Given the description of an element on the screen output the (x, y) to click on. 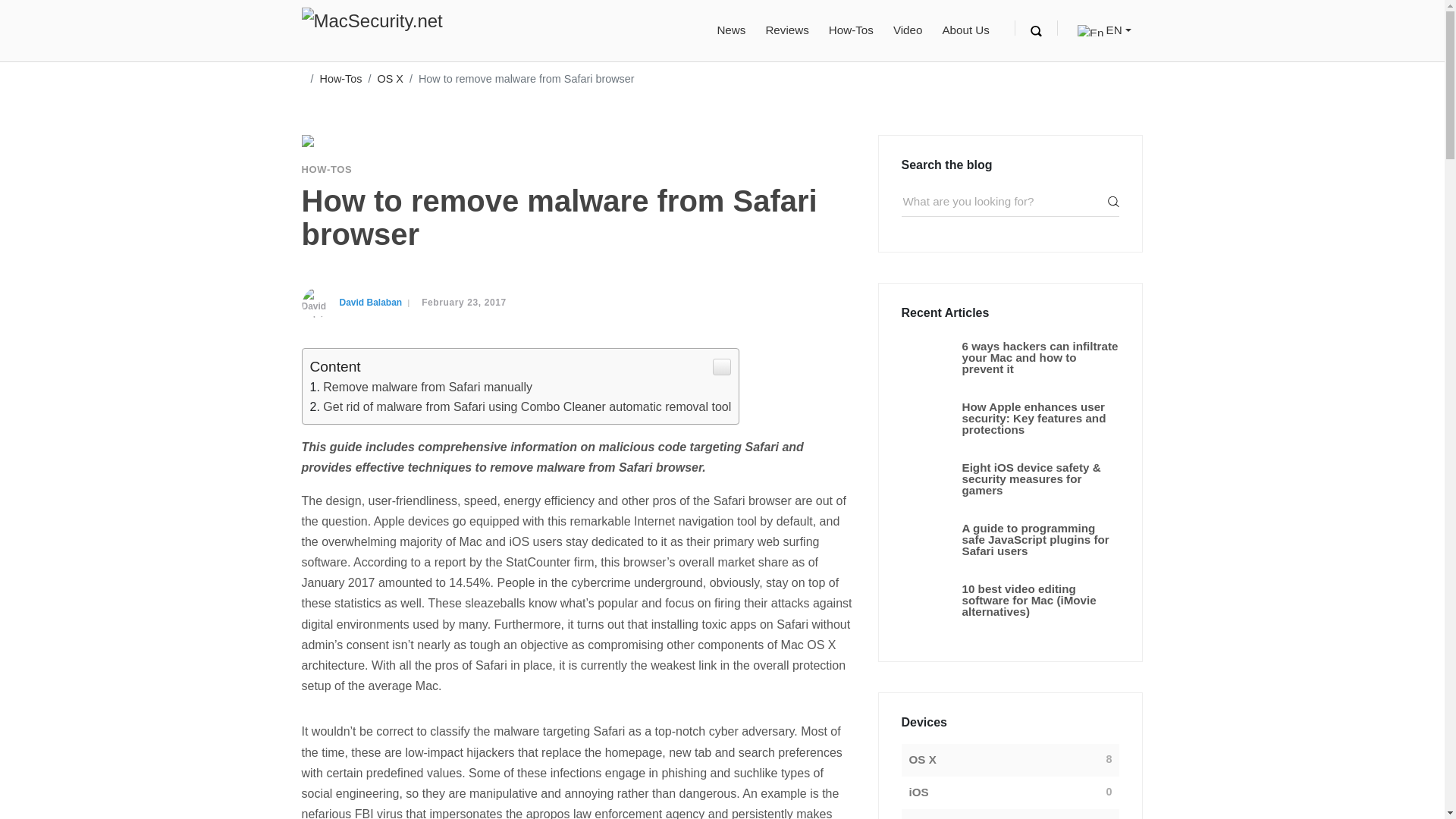
Remove malware from Safari manually (427, 386)
OS X (390, 79)
News (730, 30)
OS X (922, 760)
David Balaban (371, 302)
About Us (965, 30)
How-Tos (850, 30)
iOS (918, 792)
Video (907, 30)
